Given the description of an element on the screen output the (x, y) to click on. 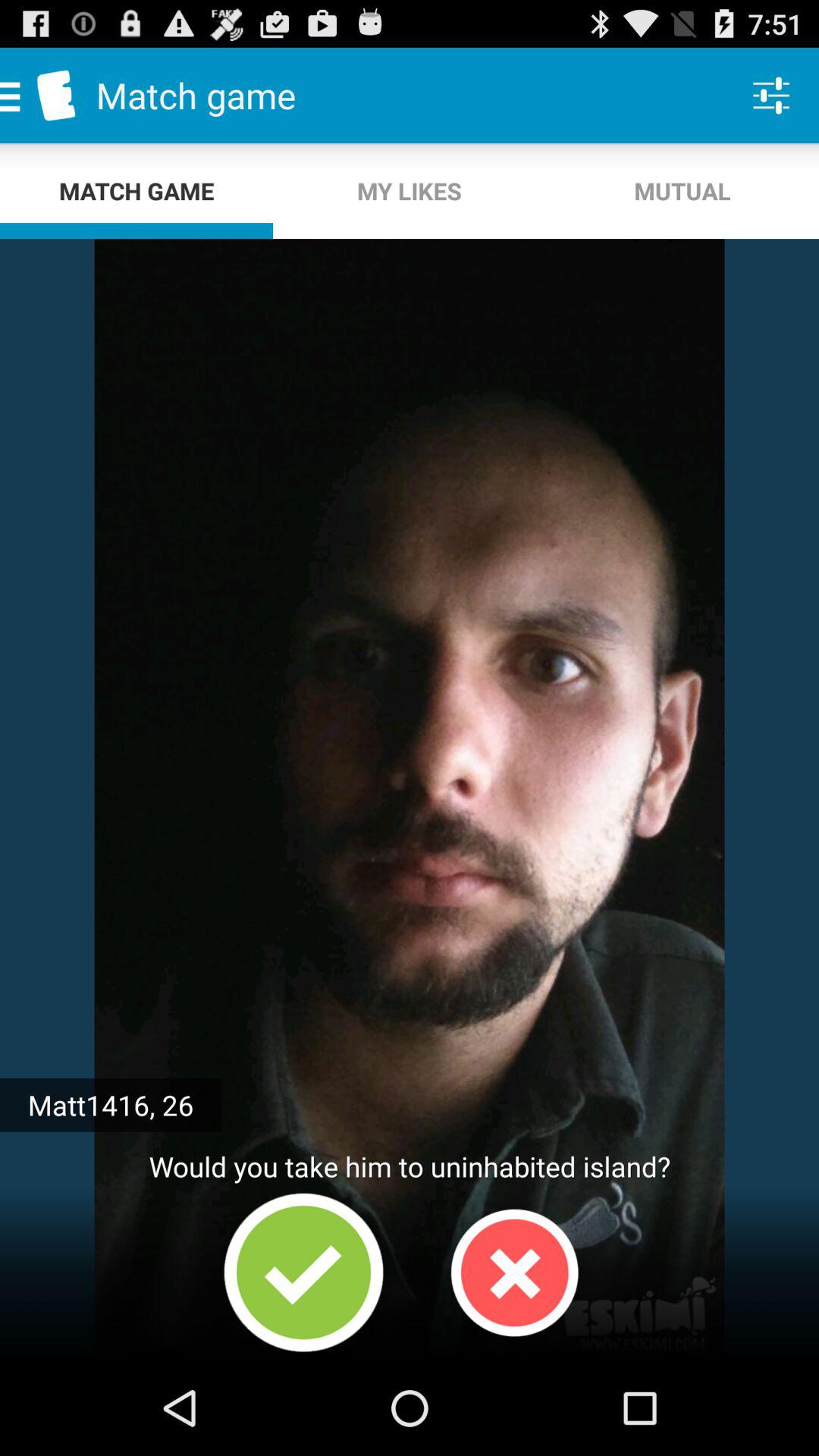
swipe until my likes app (409, 190)
